Given the description of an element on the screen output the (x, y) to click on. 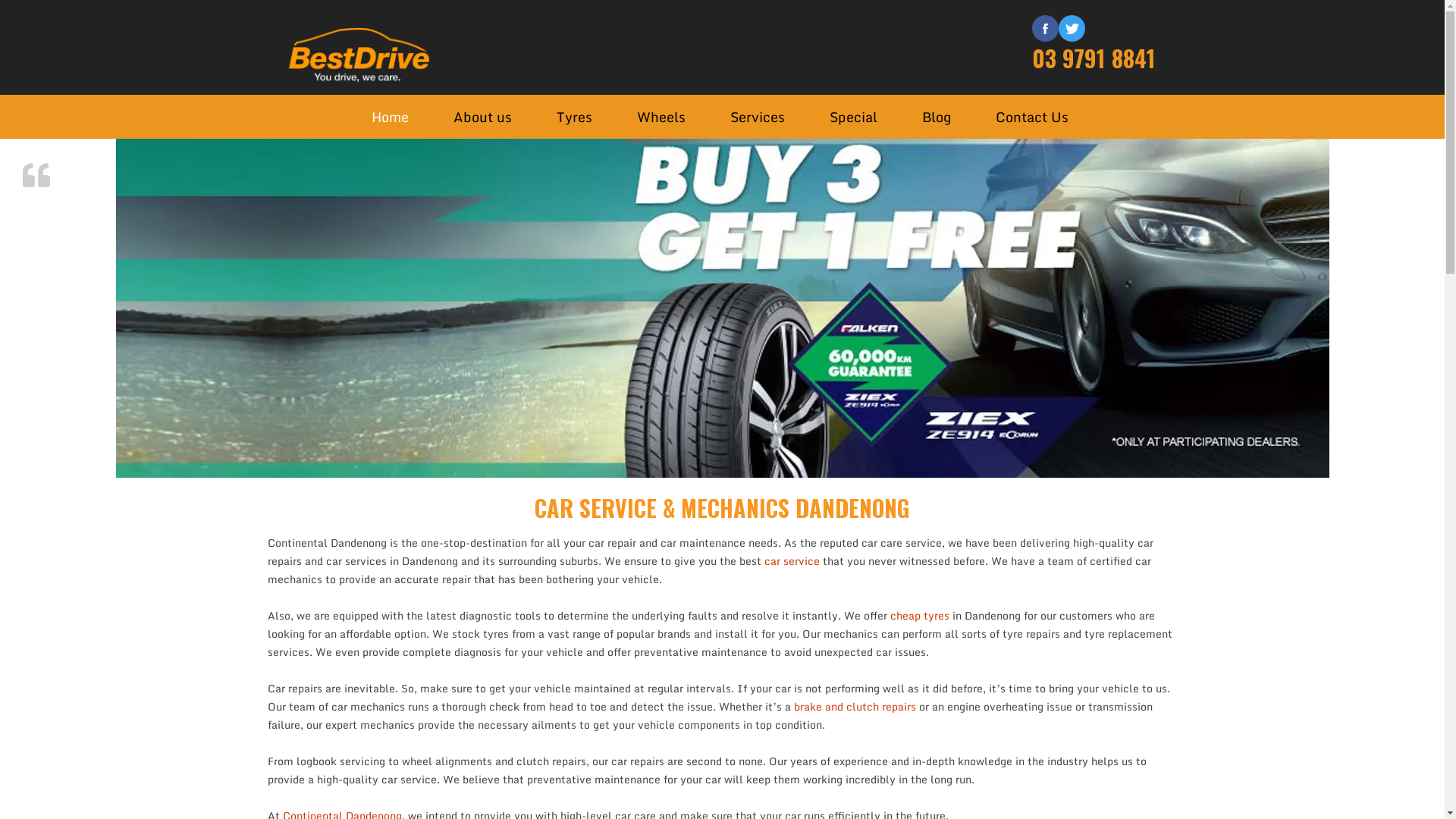
Wheels Element type: text (660, 116)
cheap tyres Element type: text (919, 615)
Home Element type: text (389, 116)
Services Element type: text (756, 116)
twiter Element type: hover (1071, 26)
Blog Element type: text (936, 116)
twiter Element type: hover (1071, 28)
Tyres Element type: text (574, 116)
car service Element type: text (791, 560)
Continental Tyres Dandenong Element type: text (617, 156)
facebook Element type: hover (1044, 28)
Contact Us Element type: text (1030, 116)
Continental Dandenong Element type: hover (357, 56)
facebook Element type: hover (1044, 26)
brake and clutch repairs Element type: text (854, 706)
About us Element type: text (482, 116)
Special Element type: text (853, 116)
ban2 Element type: hover (721, 307)
Skip to content Element type: text (354, 94)
Wheel Balancing Element type: text (697, 151)
03 9791 8841 Element type: text (1103, 58)
Tyres & Wheels Element type: text (790, 151)
